Given the description of an element on the screen output the (x, y) to click on. 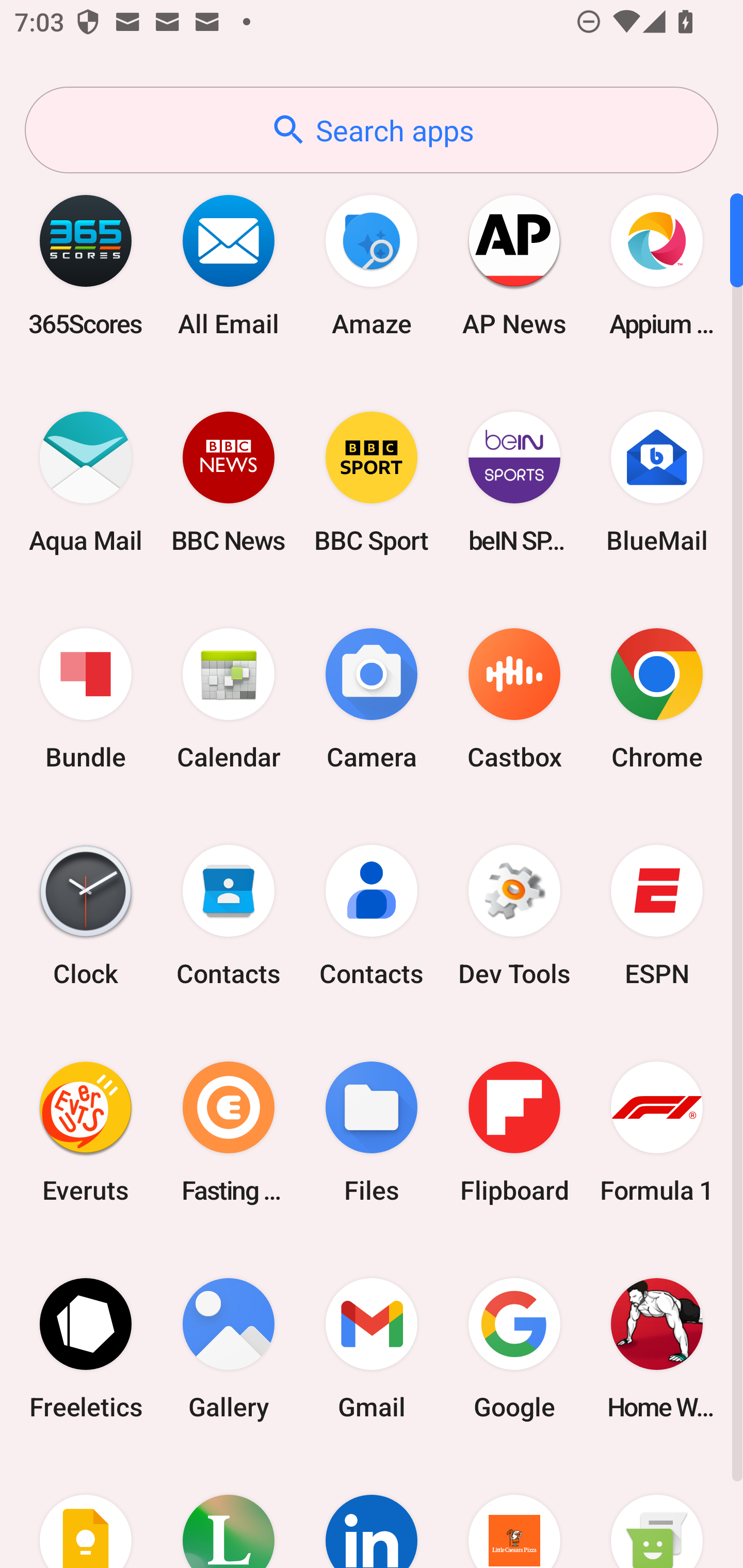
  Search apps (371, 130)
365Scores (85, 264)
All Email (228, 264)
Amaze (371, 264)
AP News (514, 264)
Appium Settings (656, 264)
Aqua Mail (85, 482)
BBC News (228, 482)
BBC Sport (371, 482)
beIN SPORTS (514, 482)
BlueMail (656, 482)
Bundle (85, 699)
Calendar (228, 699)
Camera (371, 699)
Castbox (514, 699)
Chrome (656, 699)
Clock (85, 915)
Contacts (228, 915)
Contacts (371, 915)
Dev Tools (514, 915)
ESPN (656, 915)
Everuts (85, 1131)
Fasting Coach (228, 1131)
Files (371, 1131)
Flipboard (514, 1131)
Formula 1 (656, 1131)
Freeletics (85, 1348)
Gallery (228, 1348)
Gmail (371, 1348)
Google (514, 1348)
Home Workout (656, 1348)
